Given the description of an element on the screen output the (x, y) to click on. 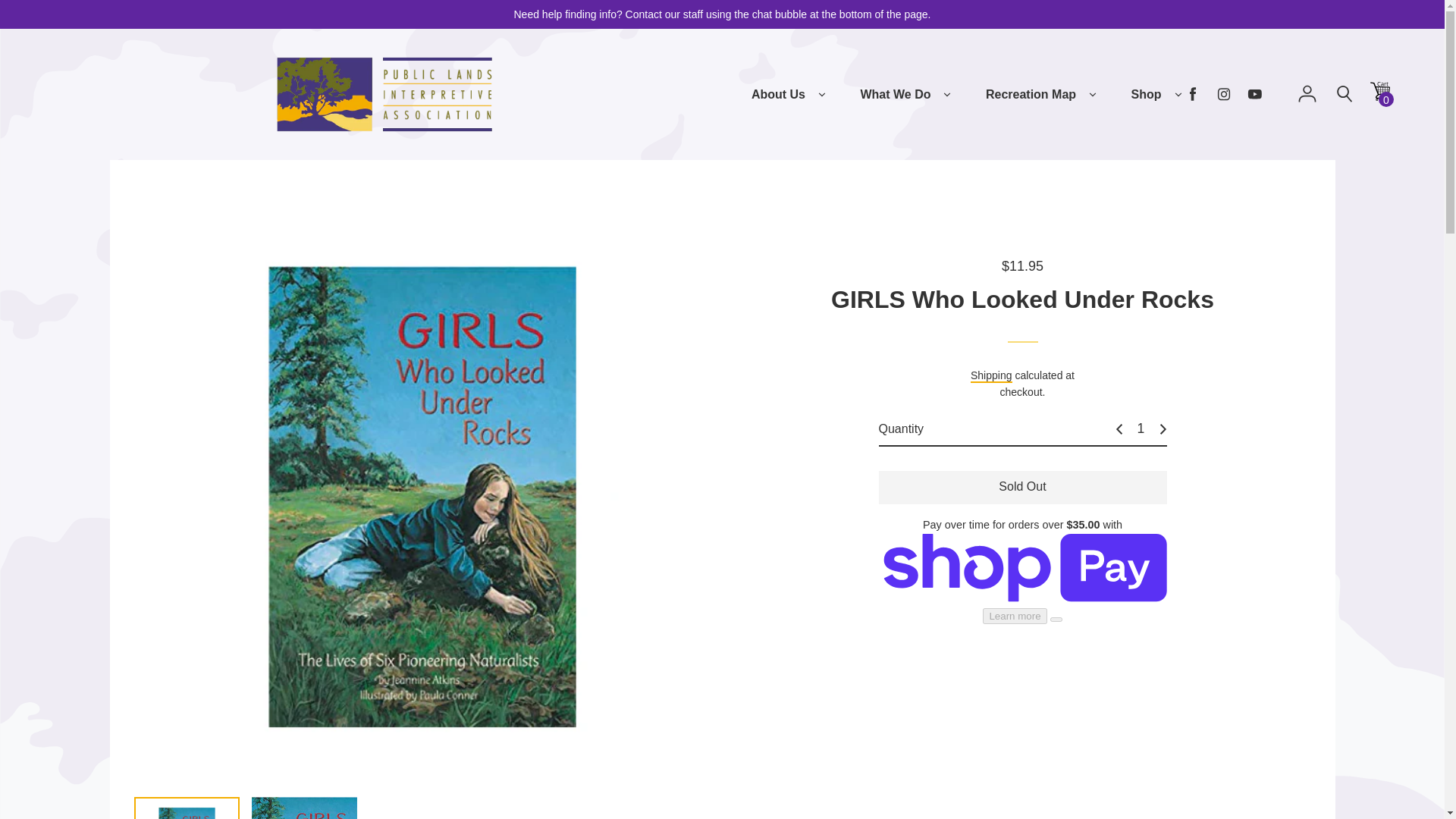
What We Do (895, 94)
Public Lands Interpretive Association on Instagram (1223, 94)
Shop (1146, 94)
1 (1140, 428)
About Us (778, 94)
Public Lands Interpretive Association on YouTube (1254, 94)
Public Lands Interpretive Association on Facebook (1193, 94)
Recreation Map (1030, 94)
